Given the description of an element on the screen output the (x, y) to click on. 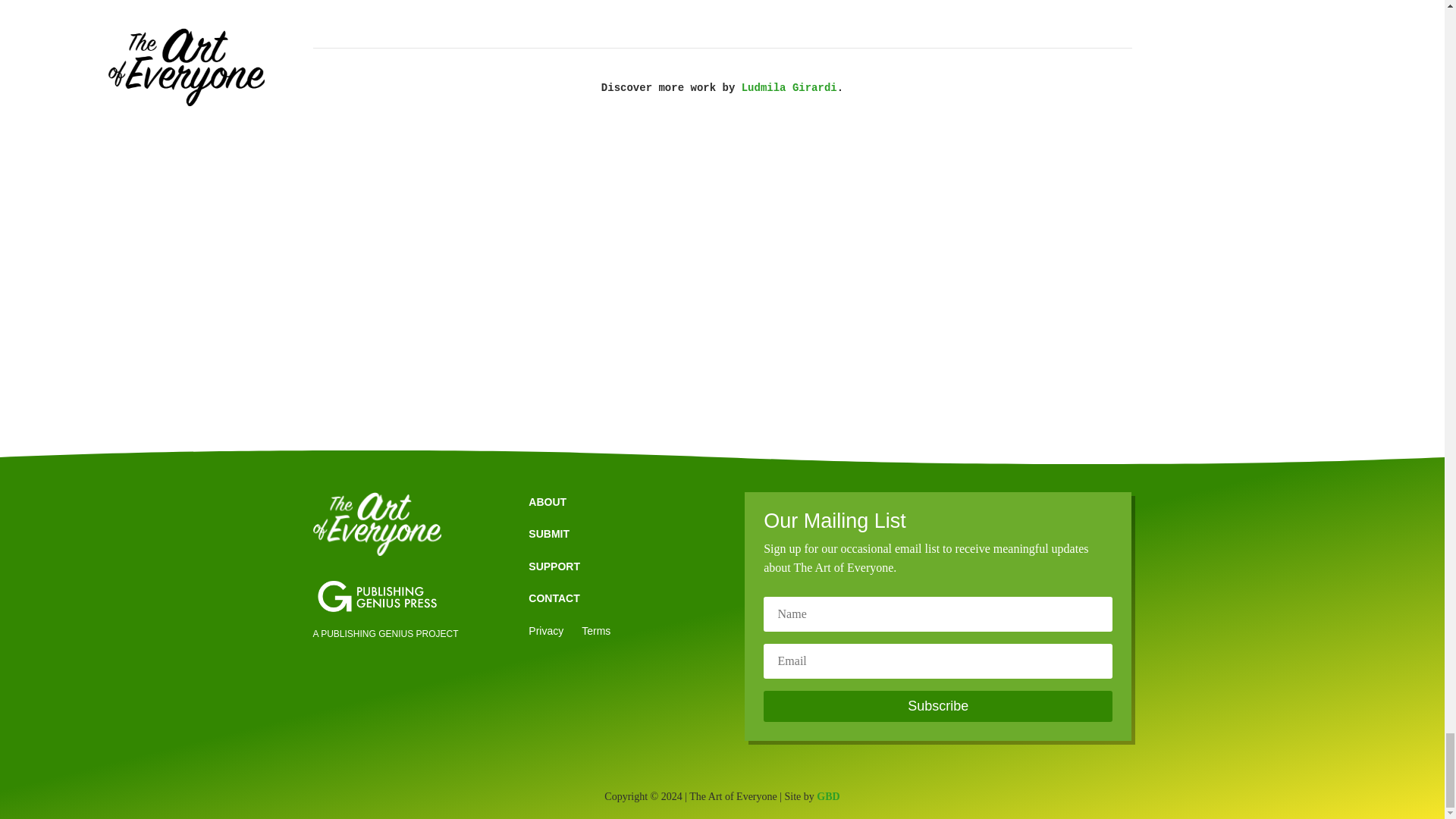
Terms (595, 630)
PGP-LOGO (377, 596)
SUPPORT (553, 566)
TAOE-logo (377, 524)
ABOUT (547, 501)
CONTACT (553, 598)
SUBMIT (548, 533)
Privacy (545, 630)
Ludmila Girardi (789, 87)
